Given the description of an element on the screen output the (x, y) to click on. 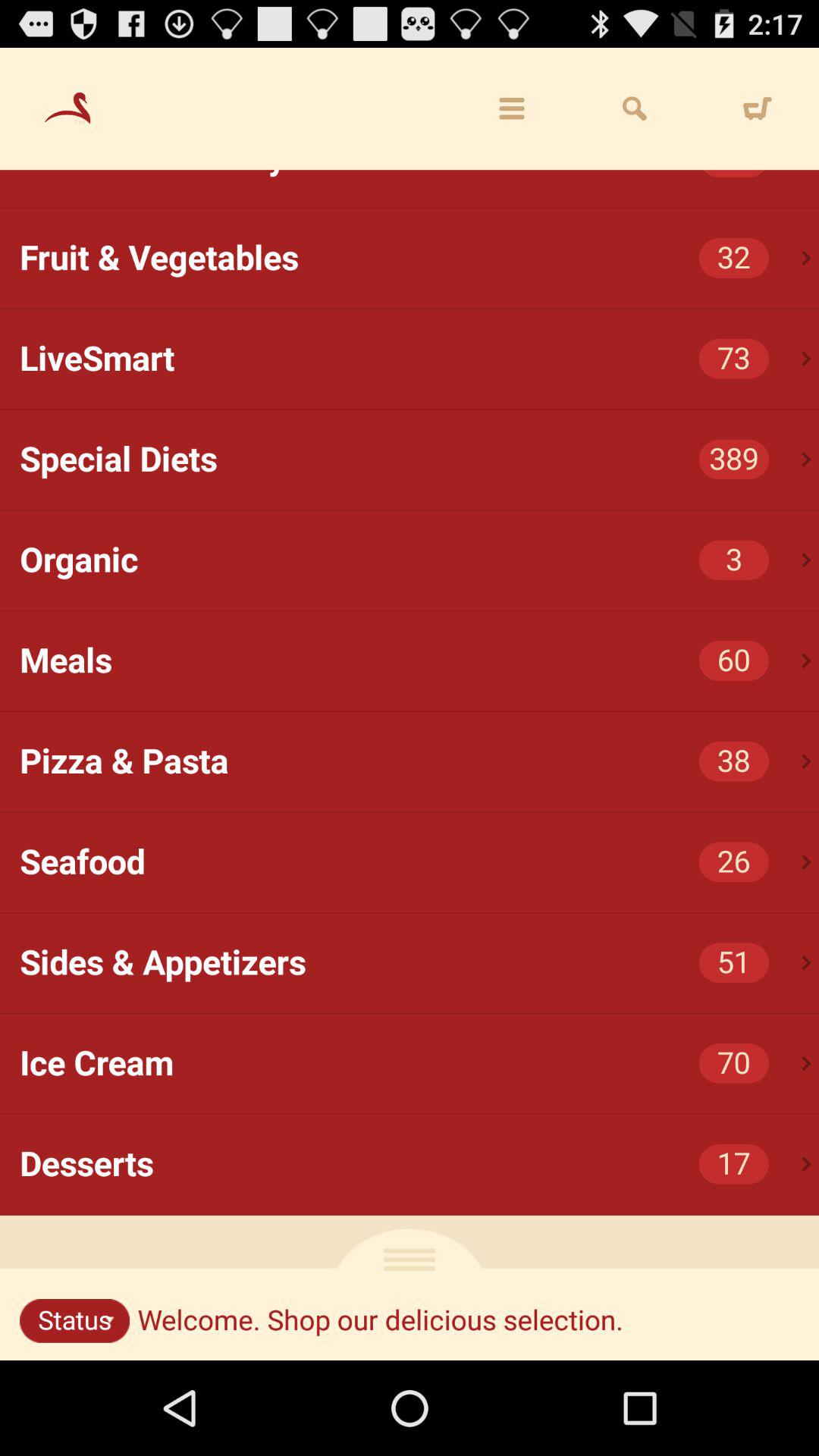
click item below livesmart item (733, 459)
